Given the description of an element on the screen output the (x, y) to click on. 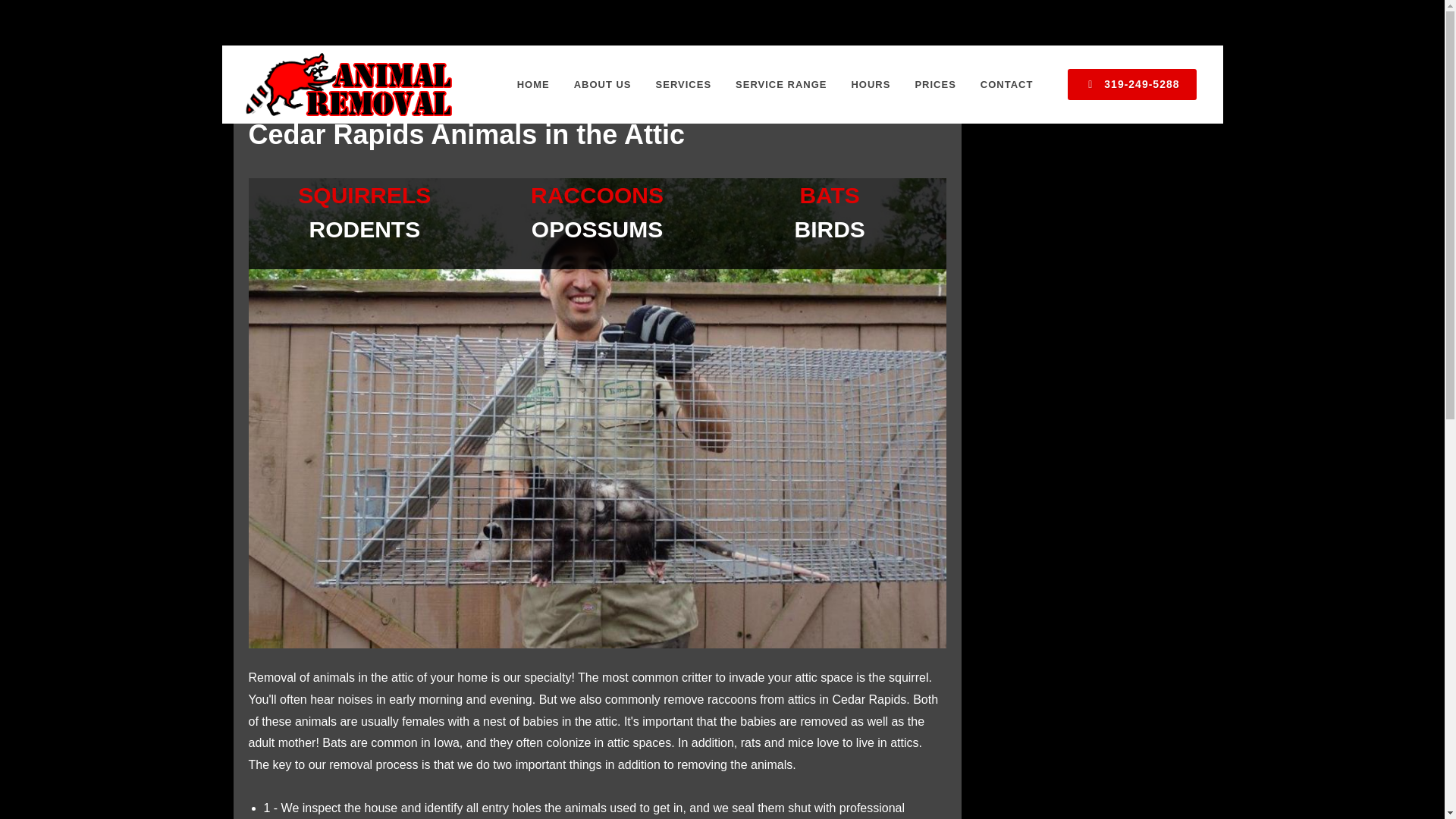
ABOUT US (602, 84)
SERVICE RANGE (780, 84)
SERVICES (684, 84)
CONTACT (1007, 84)
319-249-5288 (1131, 83)
